Given the description of an element on the screen output the (x, y) to click on. 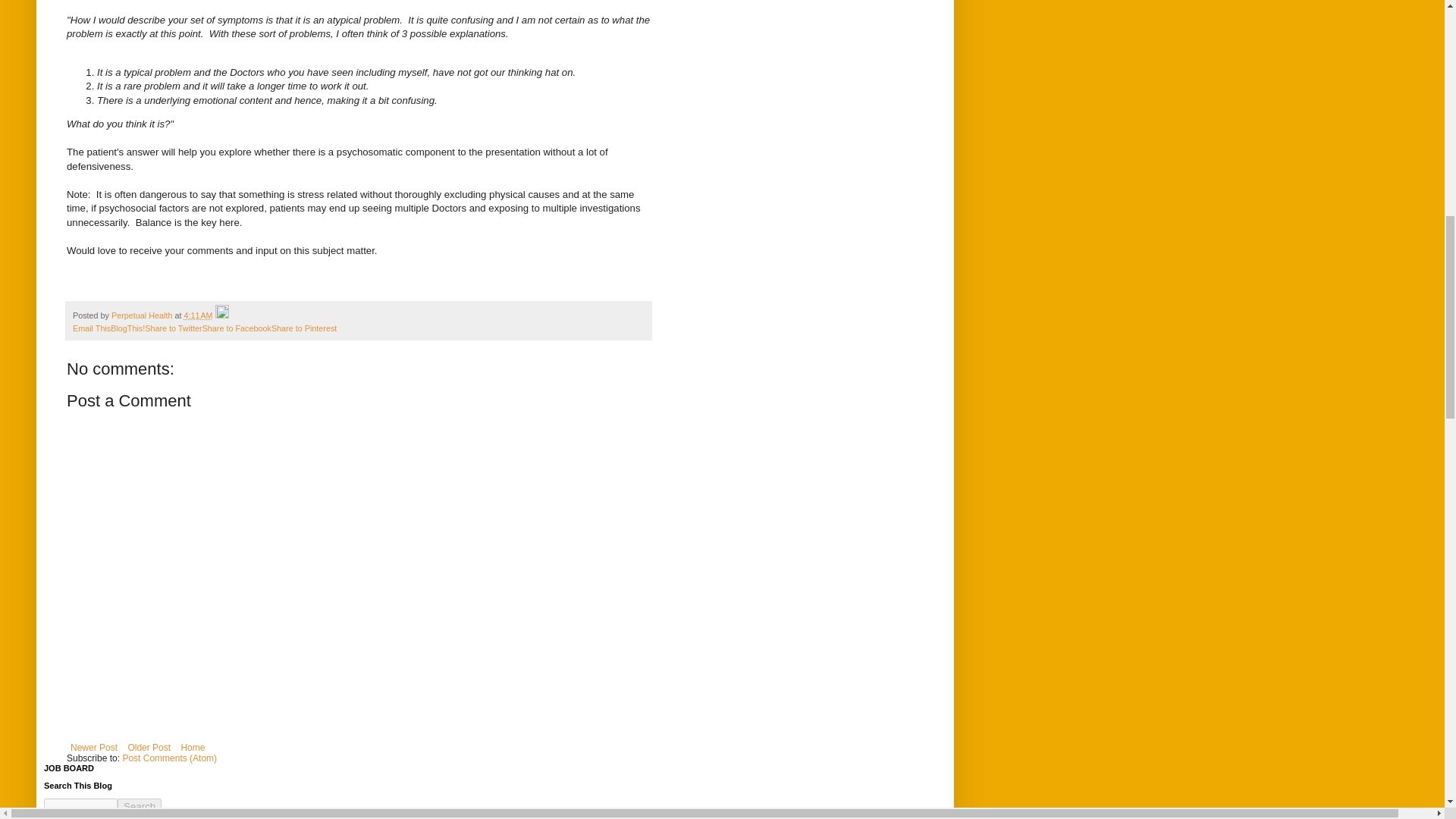
Share to Facebook (236, 327)
Edit Post (221, 315)
search (80, 806)
Search (139, 806)
BlogThis! (127, 327)
search (139, 806)
Share to Facebook (236, 327)
Older Post (148, 747)
Search (139, 806)
Perpetual Health (143, 315)
Share to Twitter (173, 327)
BlogThis! (127, 327)
Search (139, 806)
Home (192, 747)
